Given the description of an element on the screen output the (x, y) to click on. 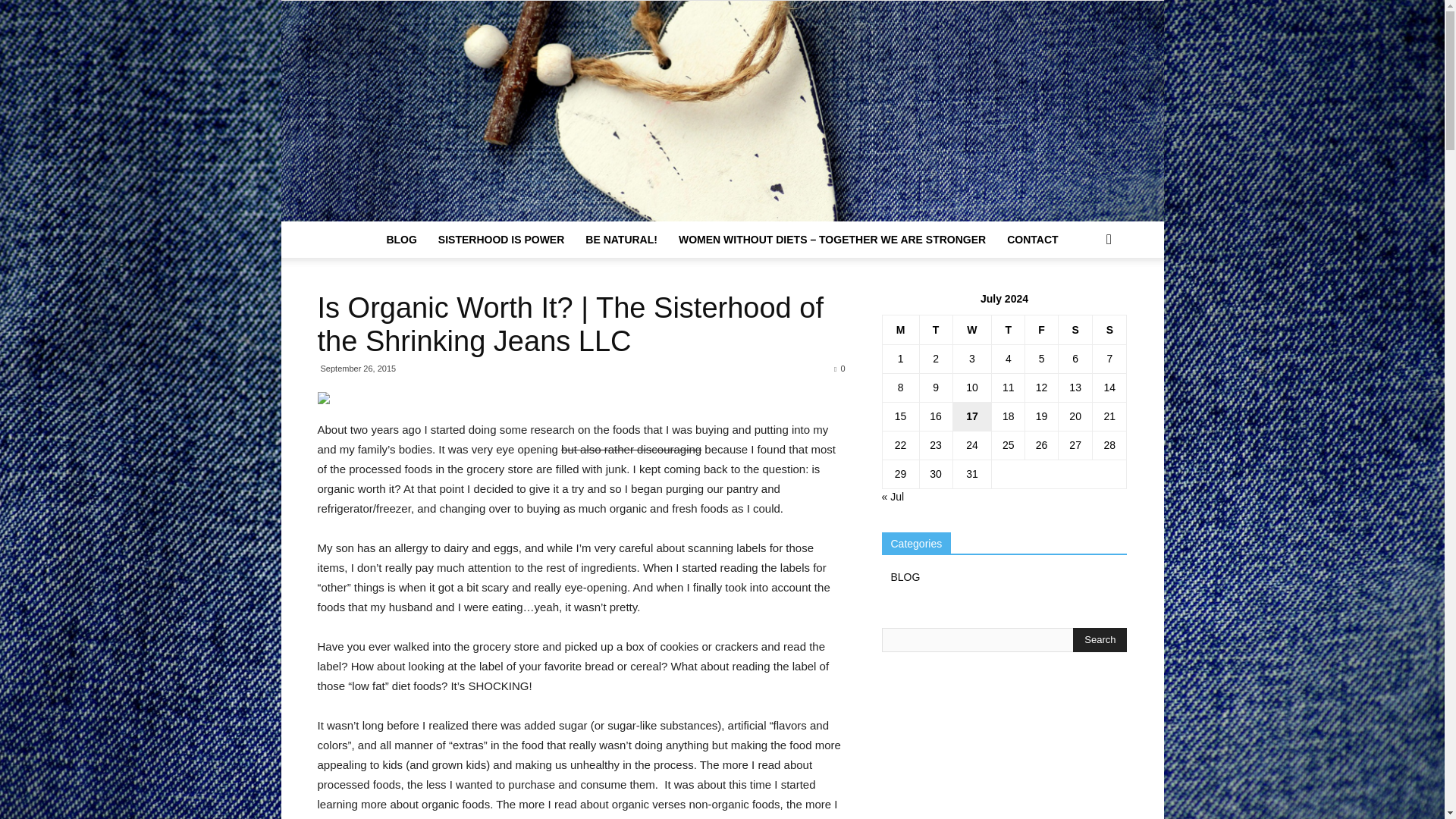
Saturday (1075, 329)
Search (1099, 639)
Tuesday (935, 329)
Search (1099, 639)
0 (839, 368)
BLOG (904, 576)
Wednesday (971, 329)
Sunday (1109, 329)
BE NATURAL! (621, 239)
BLOG (400, 239)
Search (1085, 300)
SISTERHOOD IS POWER (501, 239)
Friday (1041, 329)
CONTACT (1031, 239)
Monday (900, 329)
